Given the description of an element on the screen output the (x, y) to click on. 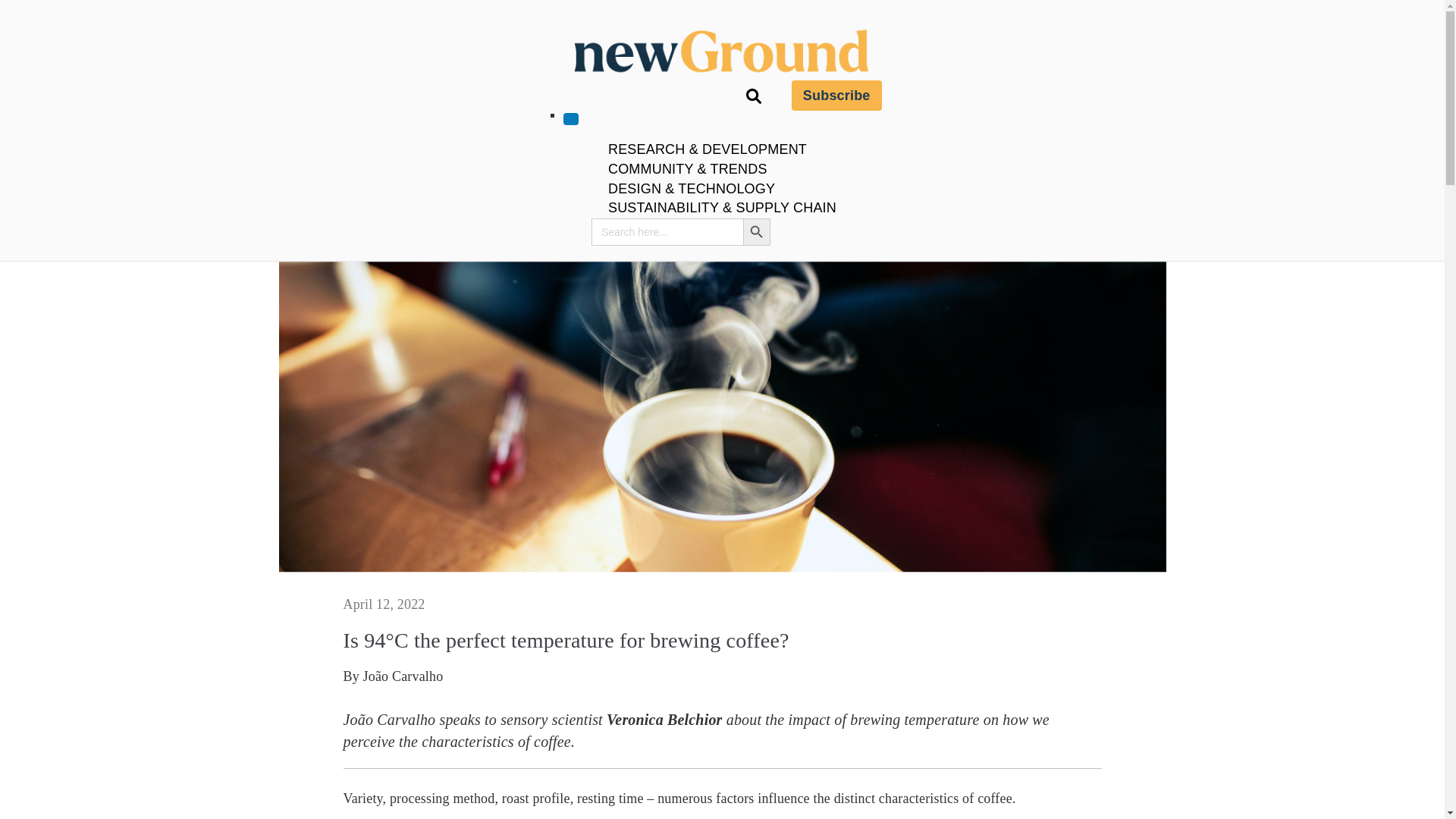
Subscribe (837, 95)
New Ground (813, 105)
Search Button (756, 231)
